Given the description of an element on the screen output the (x, y) to click on. 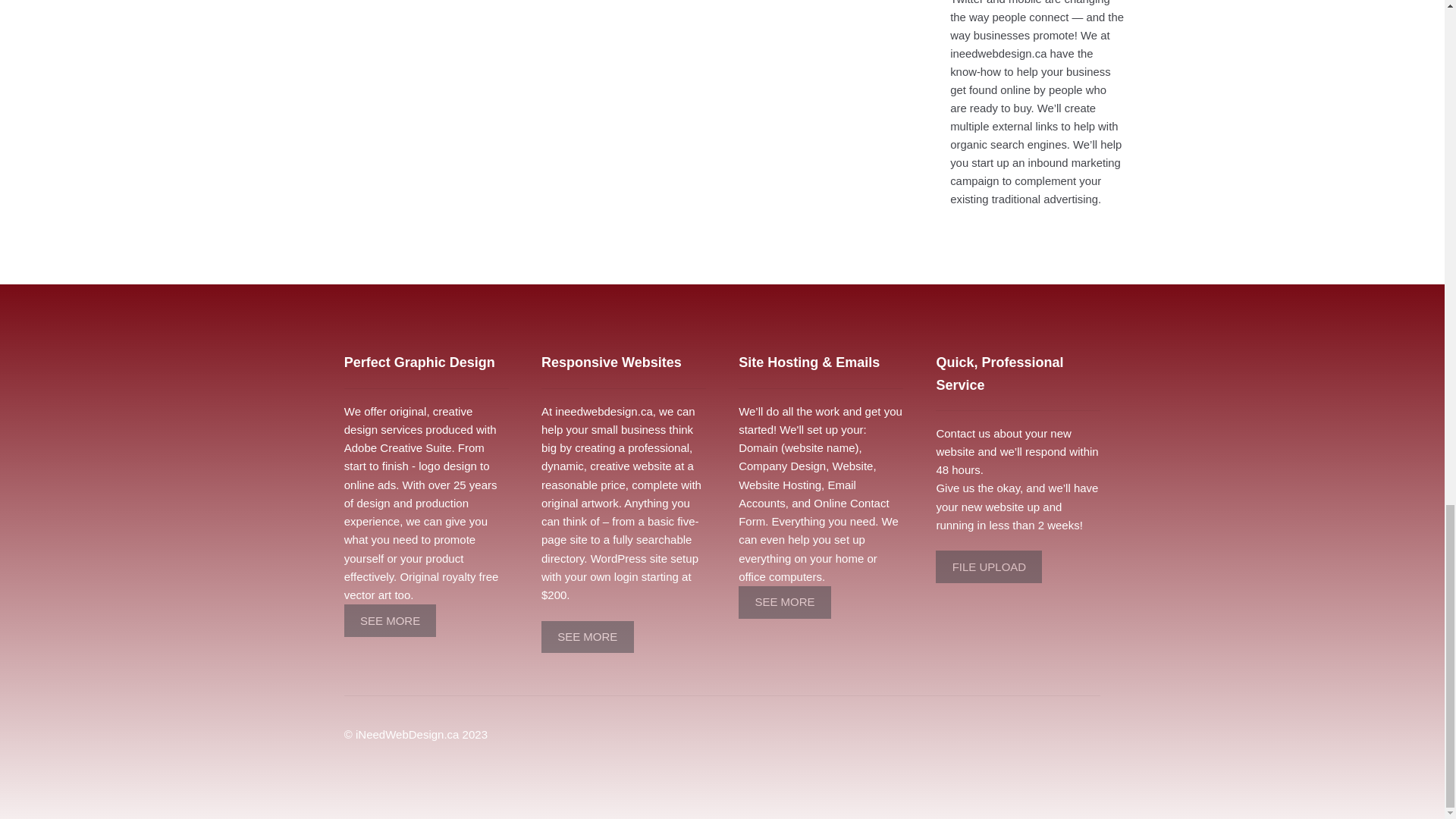
SEE MORE (587, 635)
SEE MORE (389, 620)
SEE MORE (389, 620)
